Given the description of an element on the screen output the (x, y) to click on. 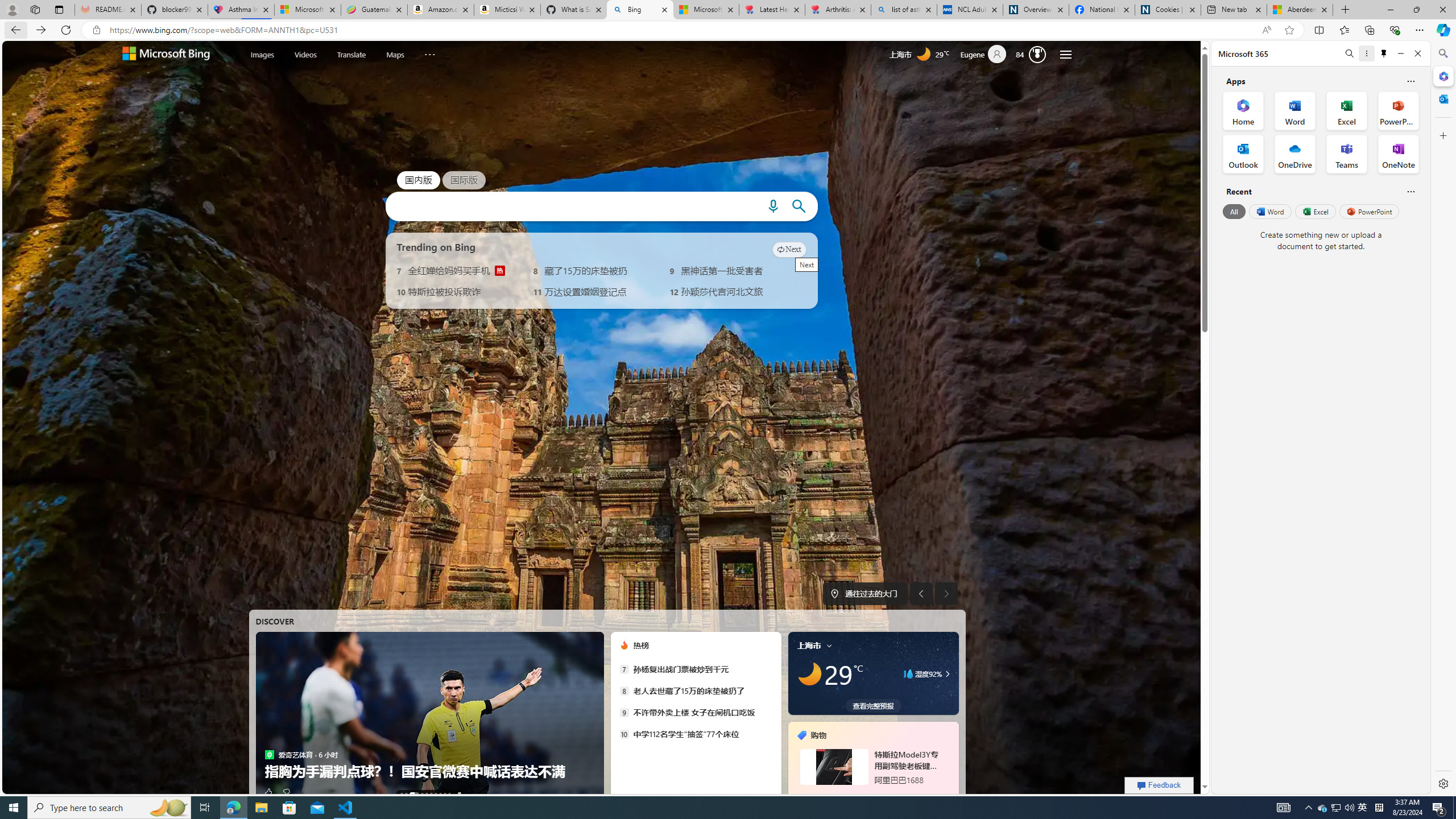
AutomationID: rh_meter (1037, 54)
AutomationID: tab-5 (431, 793)
Images (261, 54)
Aberdeen, Hong Kong SAR hourly forecast | Microsoft Weather (1300, 9)
Side bar (1443, 418)
Next (788, 248)
NCL Adult Asthma Inhaler Choice Guideline (969, 9)
AutomationID: tab-7 (440, 793)
